Given the description of an element on the screen output the (x, y) to click on. 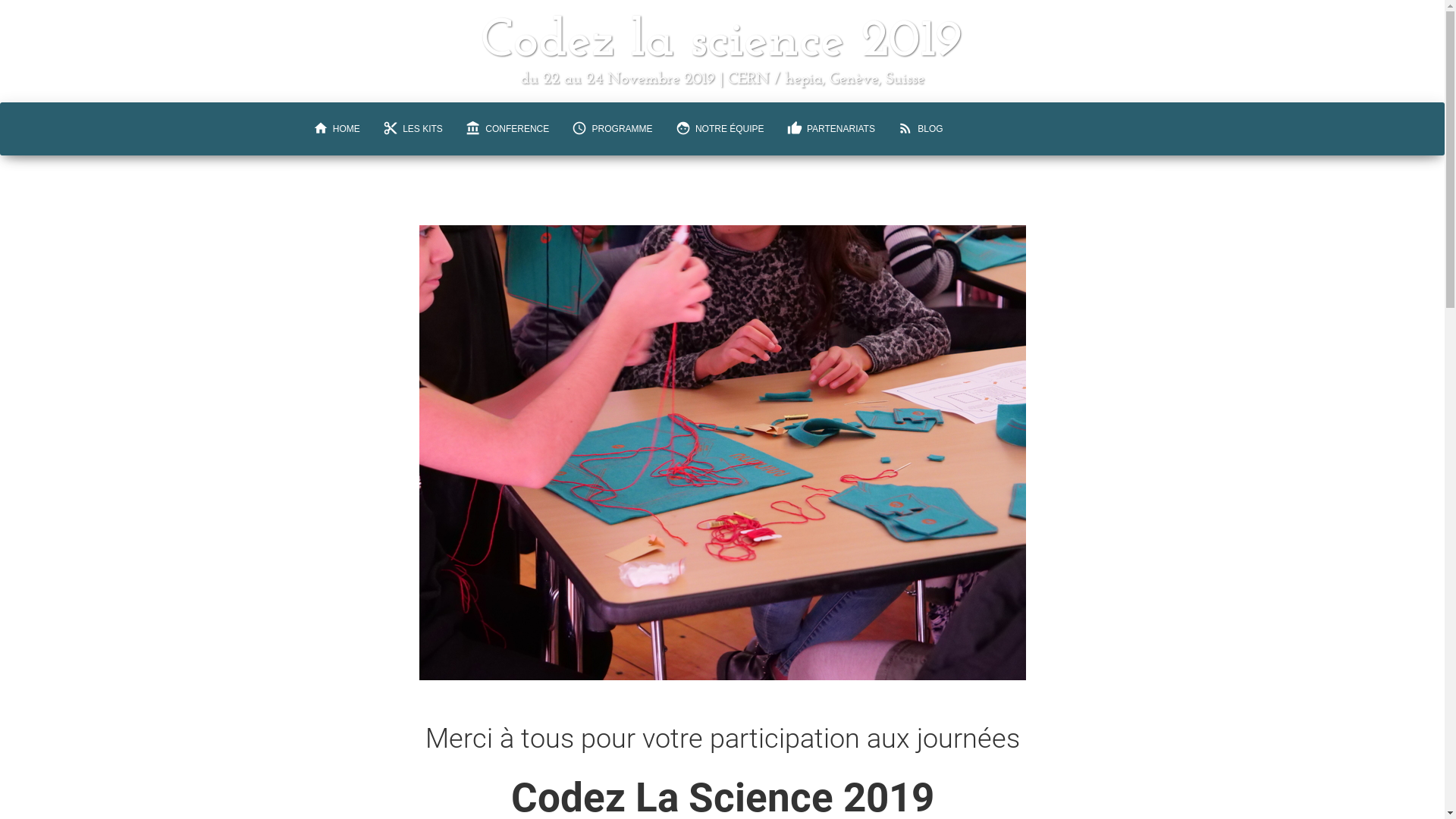
account_balance CONFERENCE Element type: text (507, 128)
schedule PROGRAMME Element type: text (611, 128)
content_cut LES KITS Element type: text (412, 128)
thumb_up PARTENARIATS Element type: text (830, 128)
home HOME Element type: text (336, 128)
rss_feed BLOG Element type: text (920, 128)
